Given the description of an element on the screen output the (x, y) to click on. 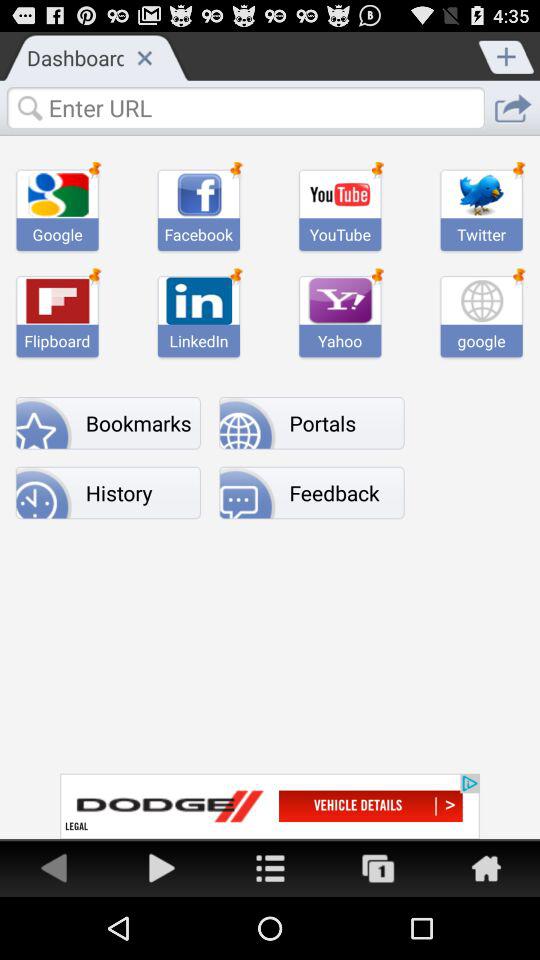
go to advertisement (162, 867)
